Given the description of an element on the screen output the (x, y) to click on. 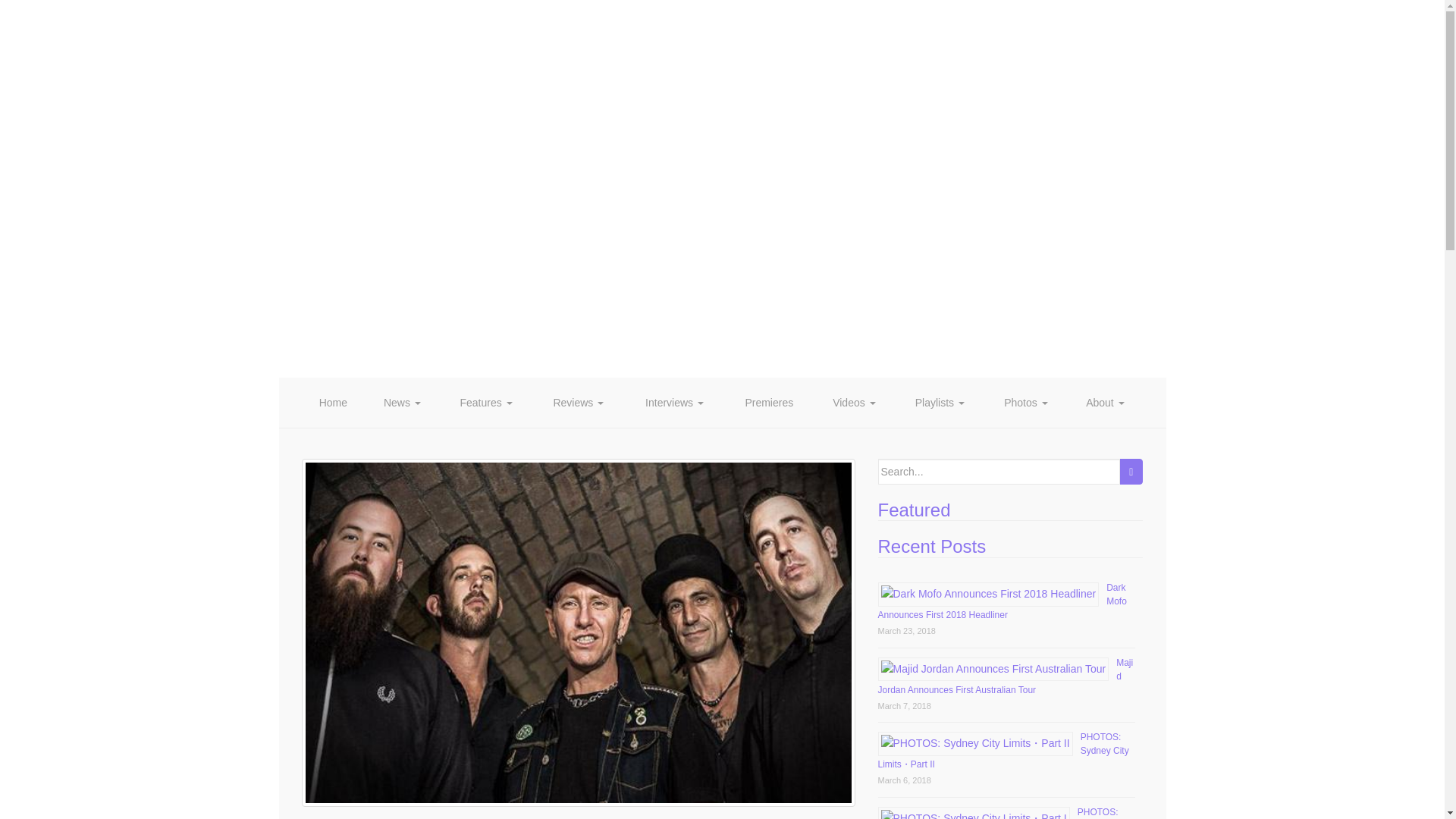
Features (485, 402)
Home (333, 402)
Reviews (578, 402)
Interviews (674, 402)
Home (333, 402)
Reviews (578, 402)
Photos (1026, 402)
Playlists (939, 402)
News (402, 402)
News (402, 402)
